Given the description of an element on the screen output the (x, y) to click on. 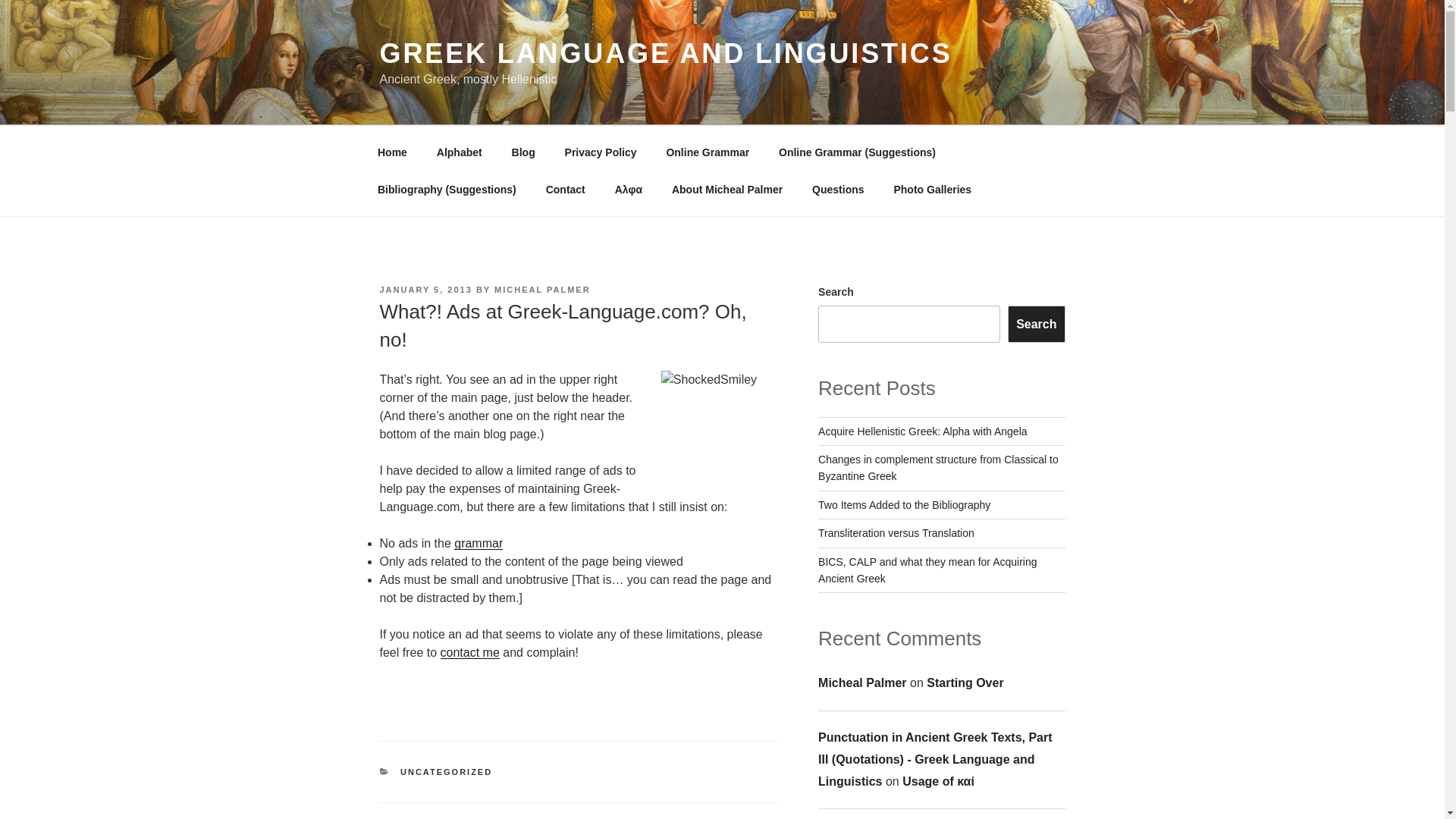
Alphabet (459, 151)
Transliteration versus Translation (896, 532)
Search (1035, 323)
Micheal Palmer (862, 682)
contact me (470, 652)
BICS, CALP and what they mean for Acquiring Ancient Greek (927, 570)
Two Items Added to the Bibliography (904, 504)
Starting Over (964, 682)
UNCATEGORIZED (446, 771)
Privacy Policy (600, 151)
Home (392, 151)
Acquire Hellenistic Greek: Alpha with Angela (922, 431)
Hellenistic Greek (478, 543)
MICHEAL PALMER (543, 289)
grammar (478, 543)
